Given the description of an element on the screen output the (x, y) to click on. 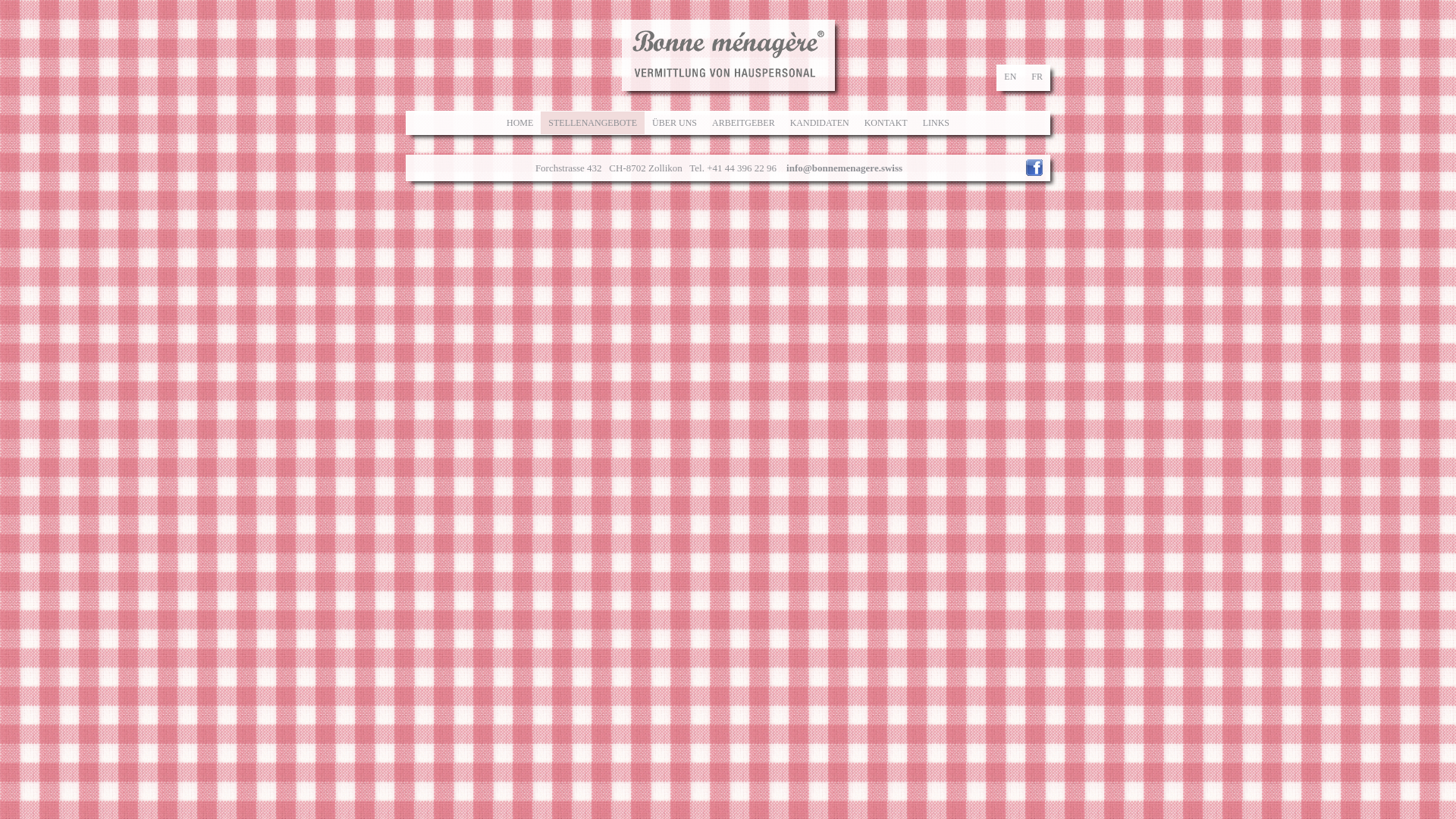
KONTAKT Element type: text (885, 122)
FR Element type: text (1036, 76)
KANDIDATEN Element type: text (819, 122)
info@bonnemenagere.swiss Element type: text (844, 167)
LINKS Element type: text (936, 122)
HOME Element type: text (519, 122)
ARBEITGEBER Element type: text (743, 122)
STELLENANGEBOTE Element type: text (592, 122)
EN Element type: text (1009, 76)
